Given the description of an element on the screen output the (x, y) to click on. 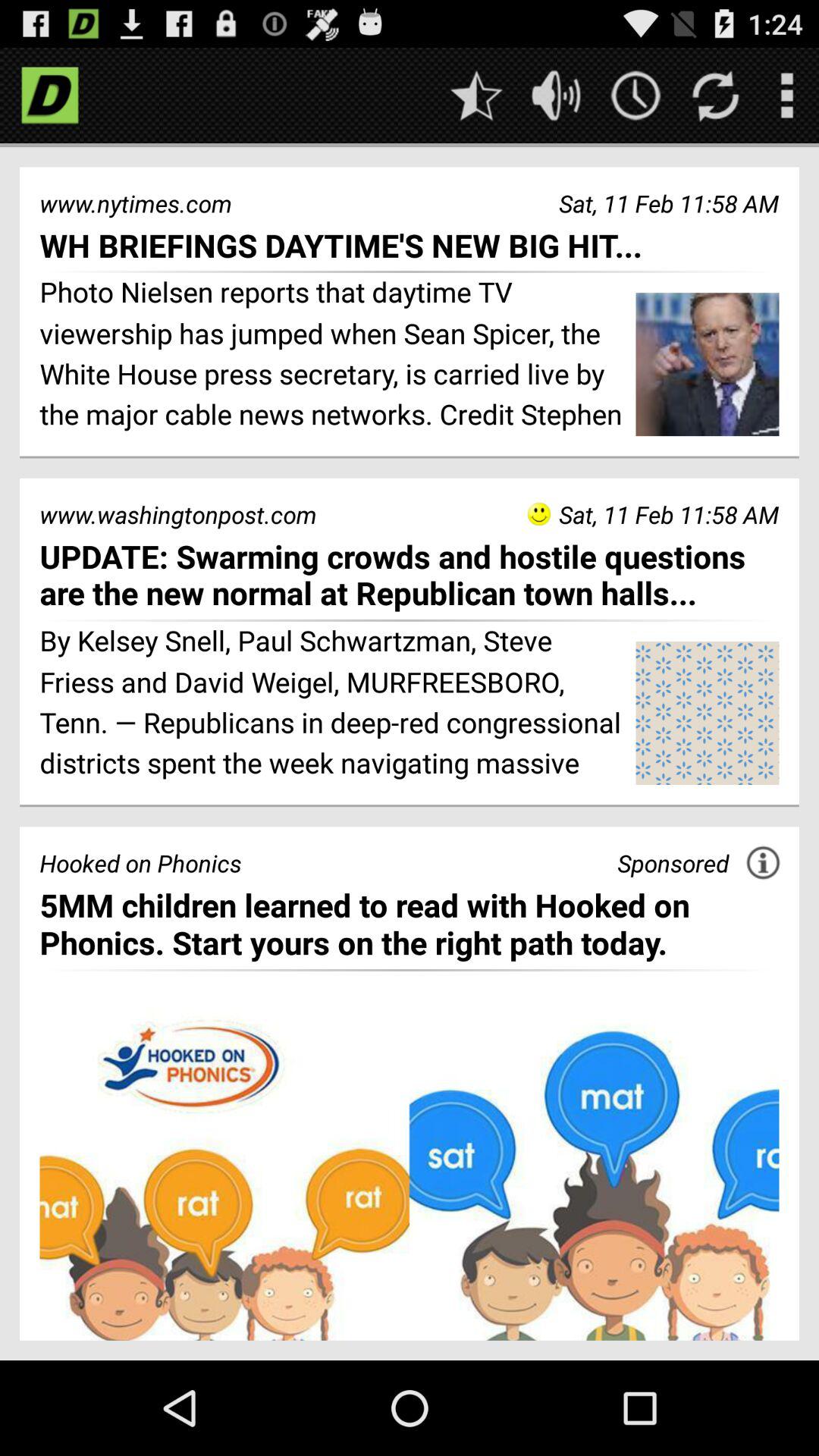
turn on app next to sponsored item (763, 862)
